Given the description of an element on the screen output the (x, y) to click on. 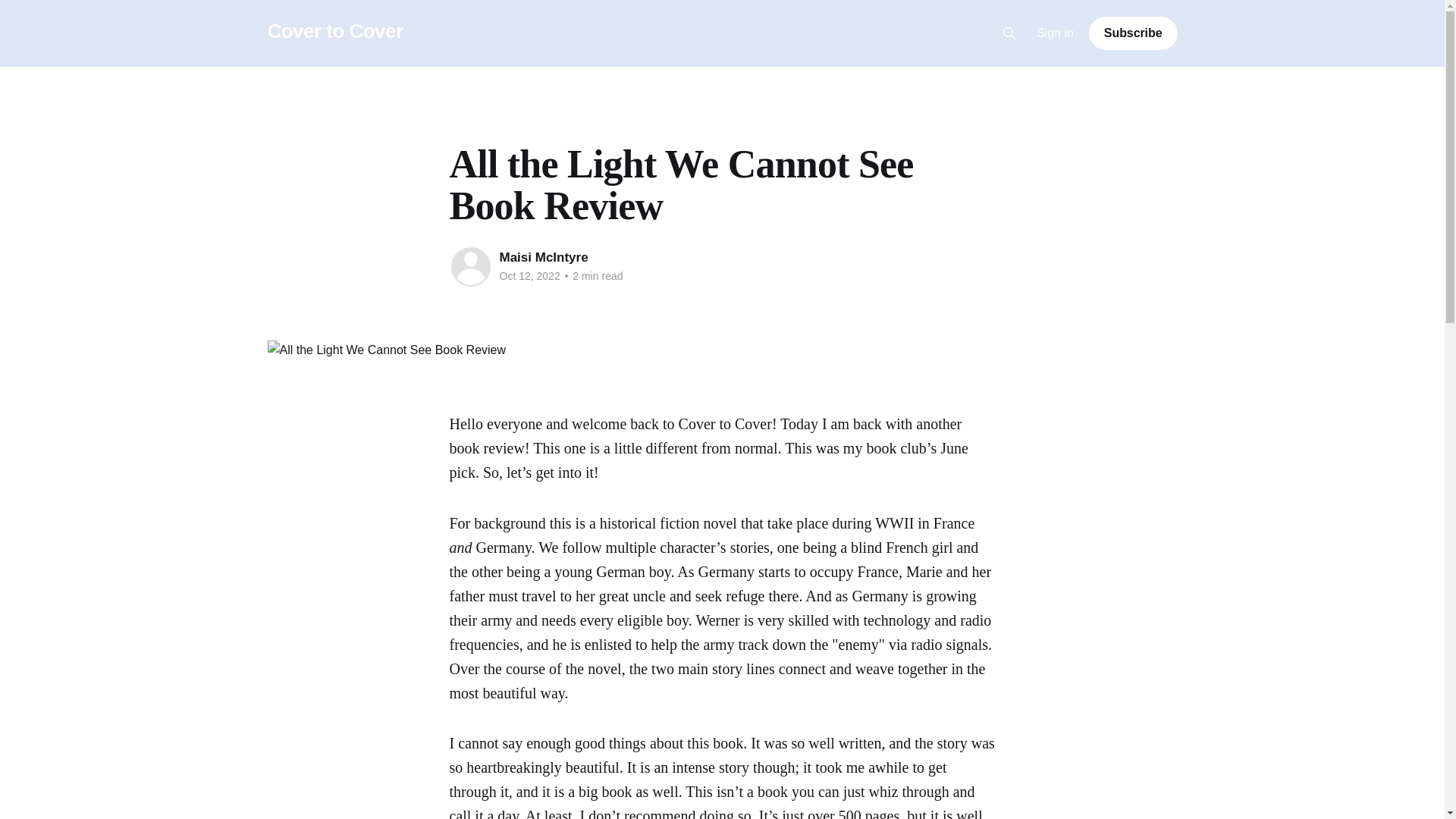
Maisi McIntyre (543, 257)
Cover to Cover (334, 31)
Sign in (1055, 33)
Subscribe (1133, 32)
